Given the description of an element on the screen output the (x, y) to click on. 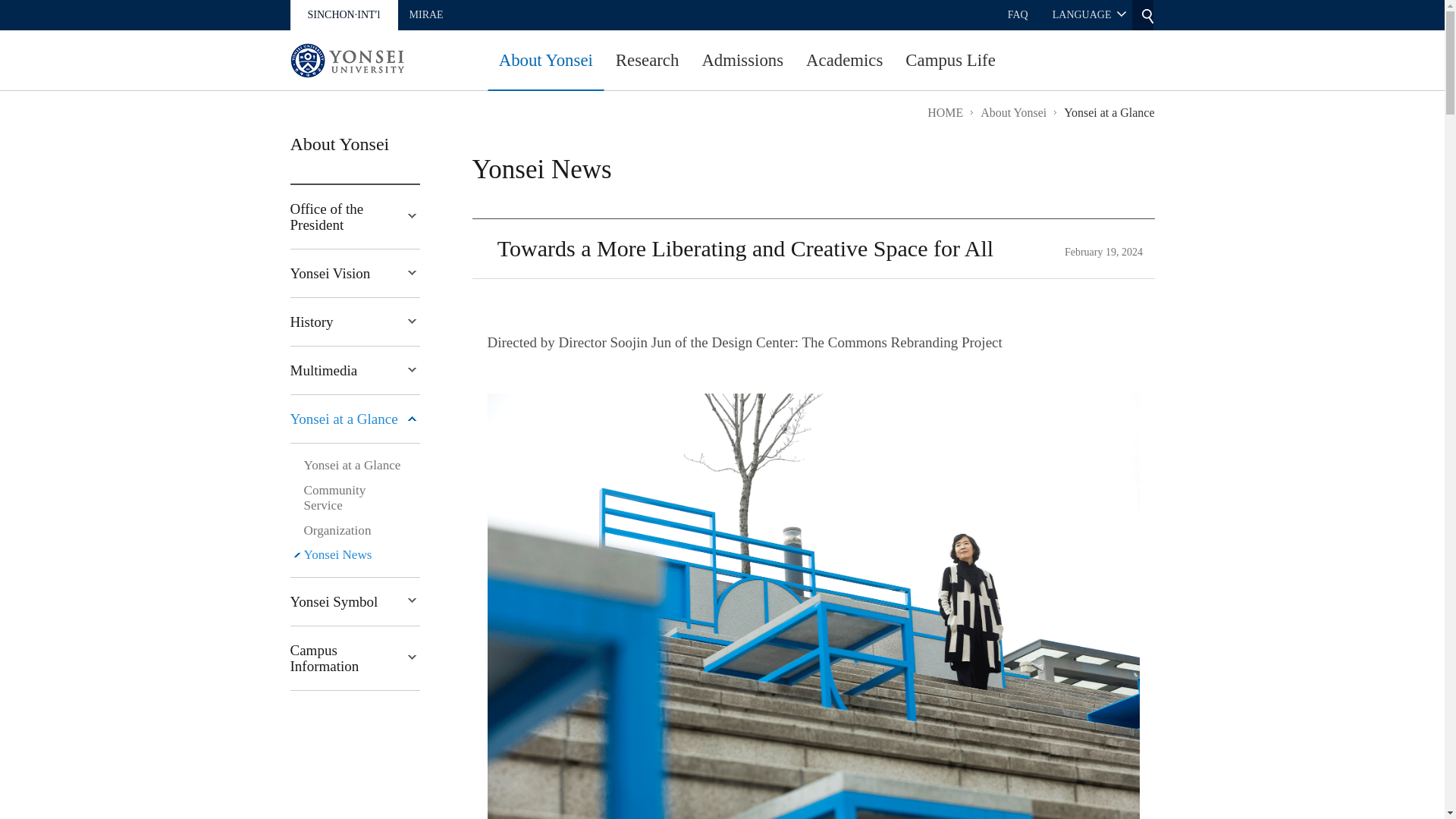
MIRAE (425, 15)
LANGUAGE (1089, 15)
FAQ (1018, 15)
About Yonsei (545, 65)
Yonsei Univ (346, 60)
